Given the description of an element on the screen output the (x, y) to click on. 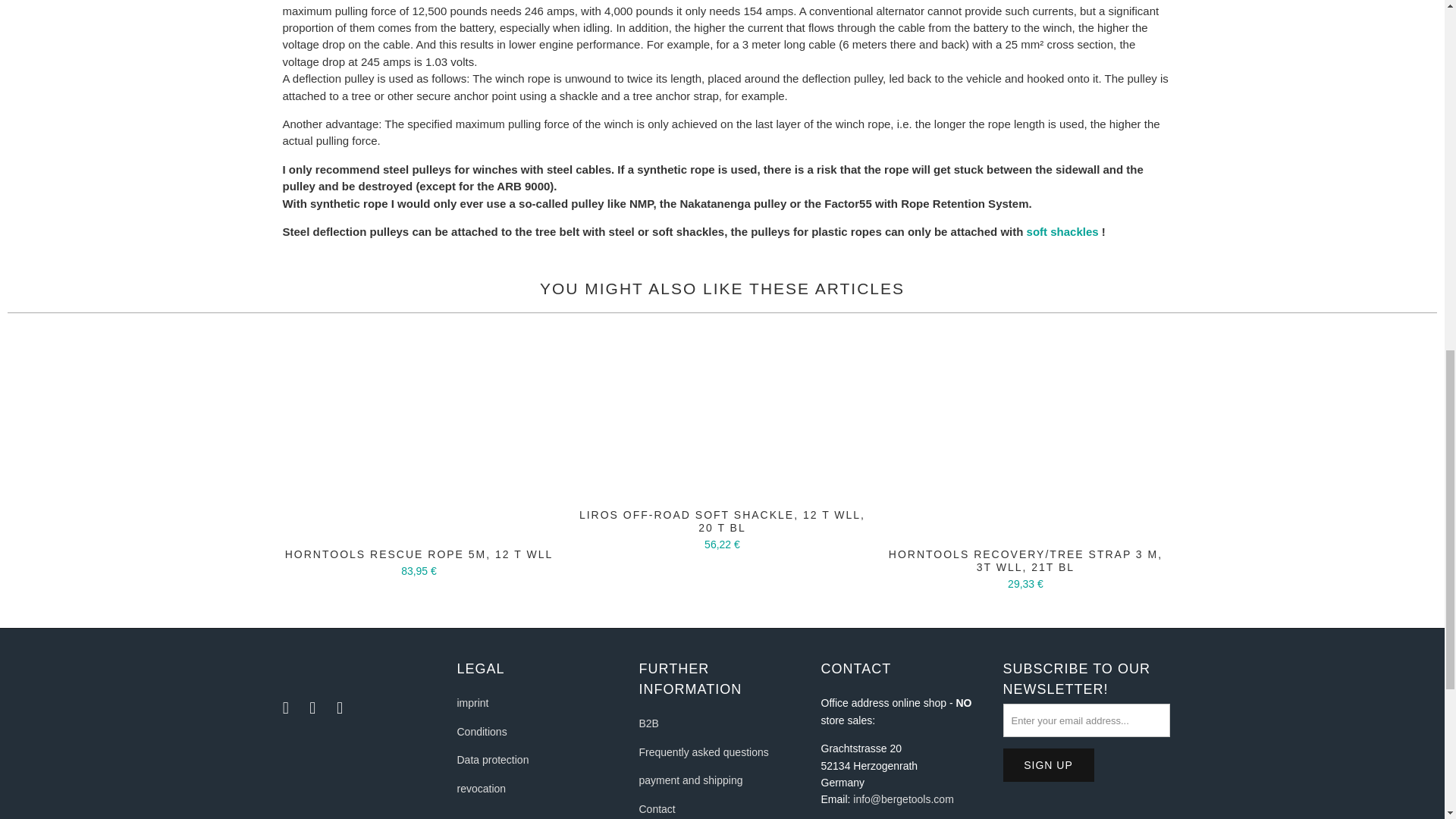
Email Bergetools (340, 708)
Bergetools on Instagram (312, 708)
Sign Up (1048, 765)
Bergetools on Facebook (286, 708)
